Given the description of an element on the screen output the (x, y) to click on. 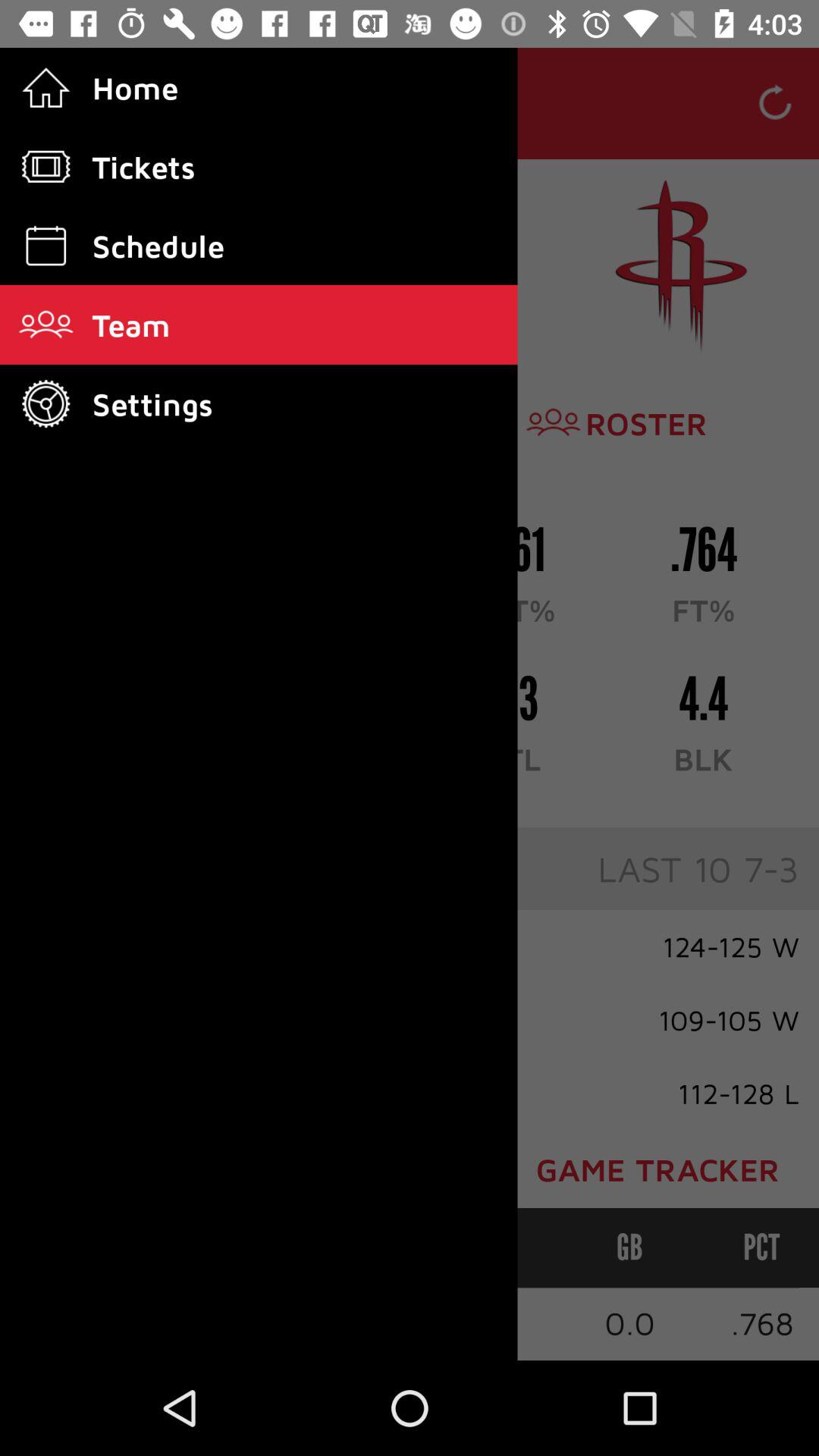
click the tickets option (45, 166)
